Given the description of an element on the screen output the (x, y) to click on. 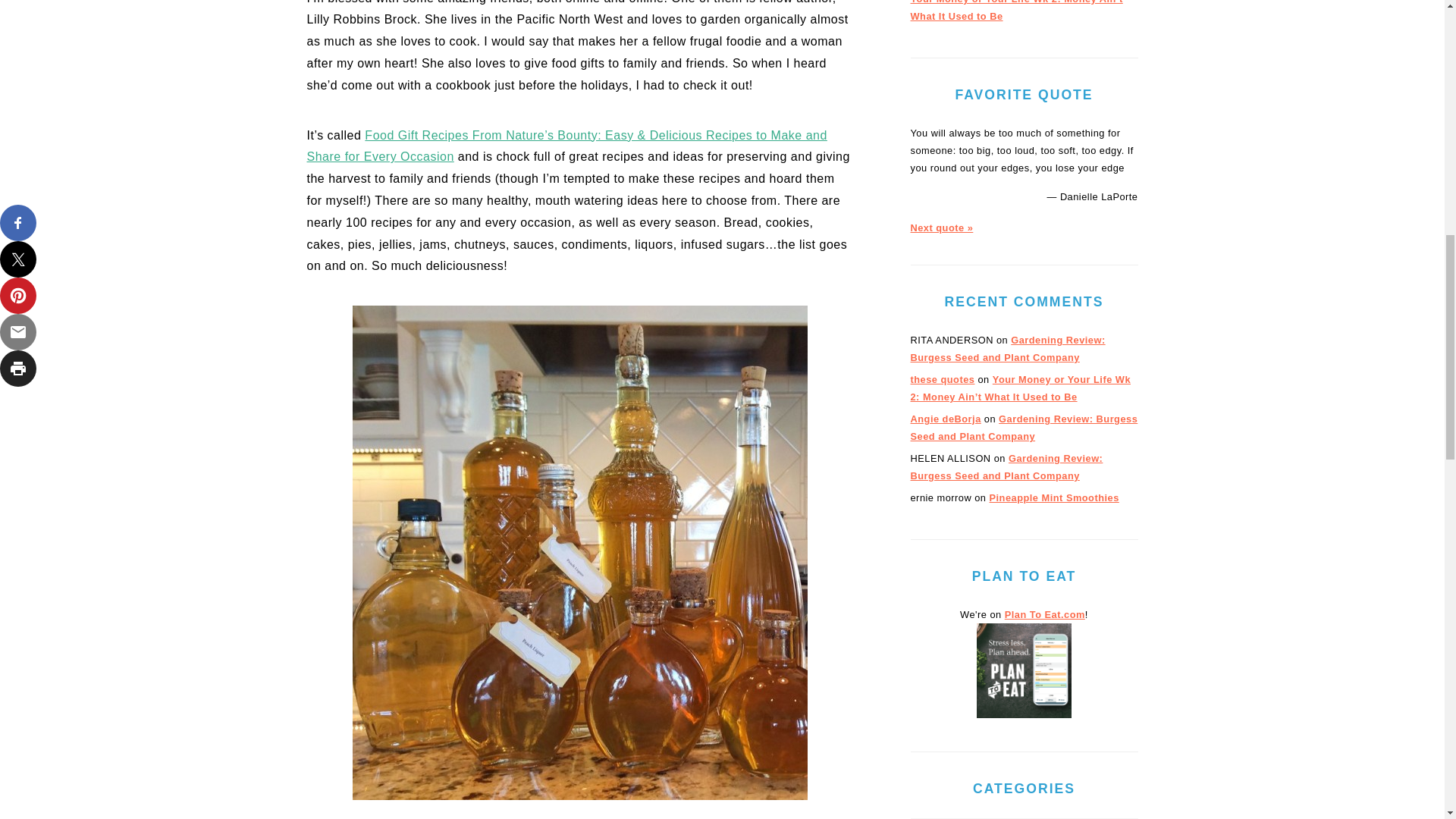
Simple Meal Planning - Plan to Eat (1023, 714)
